Given the description of an element on the screen output the (x, y) to click on. 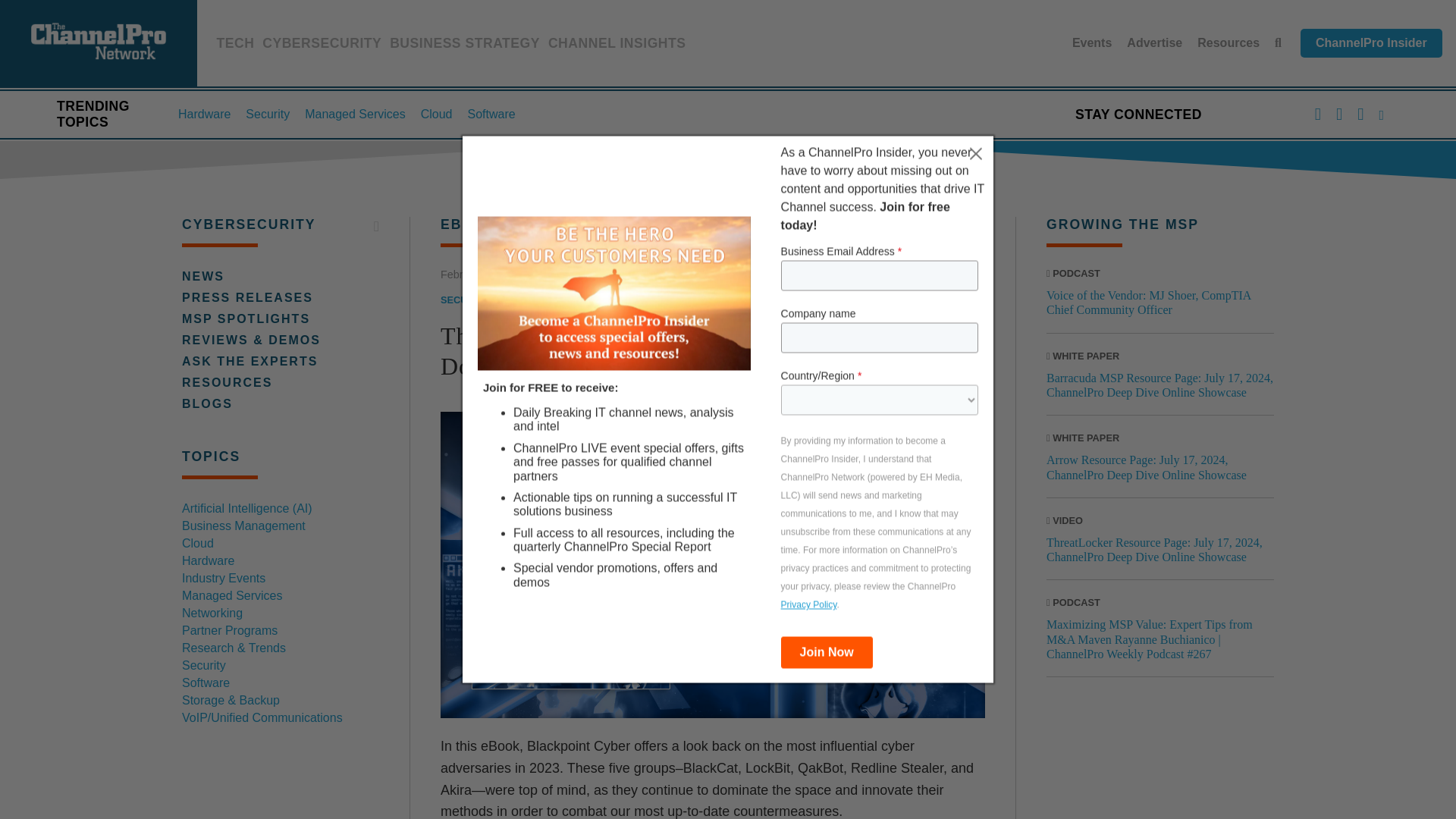
3rd party ad content (1160, 759)
ChannelPro Insider (1371, 42)
Resources (1227, 42)
Advertise (1154, 42)
CHANNEL INSIGHTS (616, 45)
ChannelPro Insider (1371, 42)
CYBERSECURITY (322, 45)
Posts by ChannelPro Network (588, 274)
Events (1091, 42)
BUSINESS STRATEGY (464, 45)
